Given the description of an element on the screen output the (x, y) to click on. 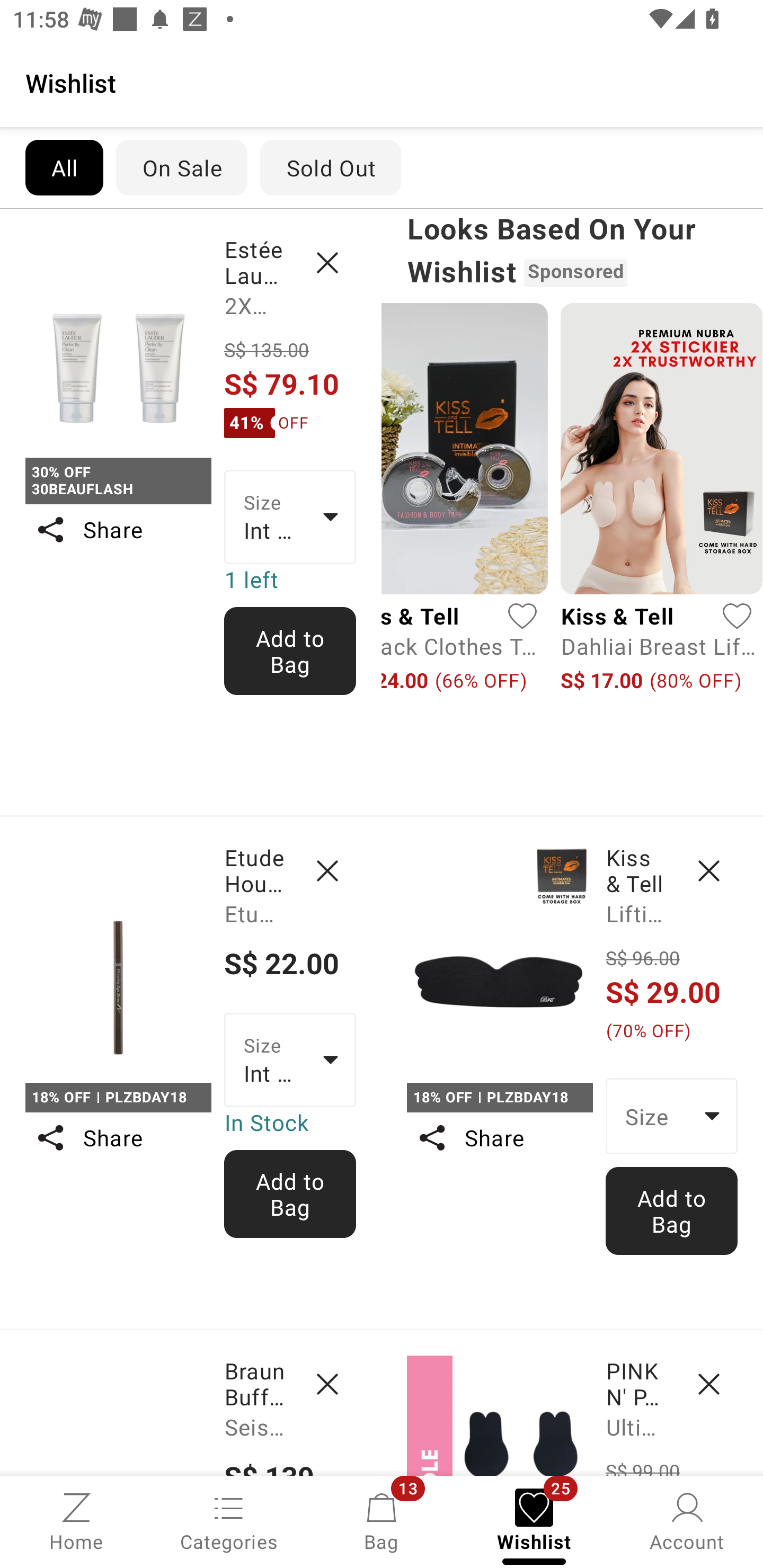
Wishlist (381, 82)
All (64, 167)
On Sale (181, 167)
Sold Out (330, 167)
Size Int One Size (290, 517)
Share (118, 529)
Add to Bag (290, 650)
Size Int One Size (290, 1059)
Size (671, 1116)
Share (118, 1137)
Share (499, 1137)
Add to Bag (290, 1193)
Add to Bag (671, 1210)
Home (76, 1519)
Categories (228, 1519)
Bag, 13 new notifications Bag (381, 1519)
Account (686, 1519)
